Given the description of an element on the screen output the (x, y) to click on. 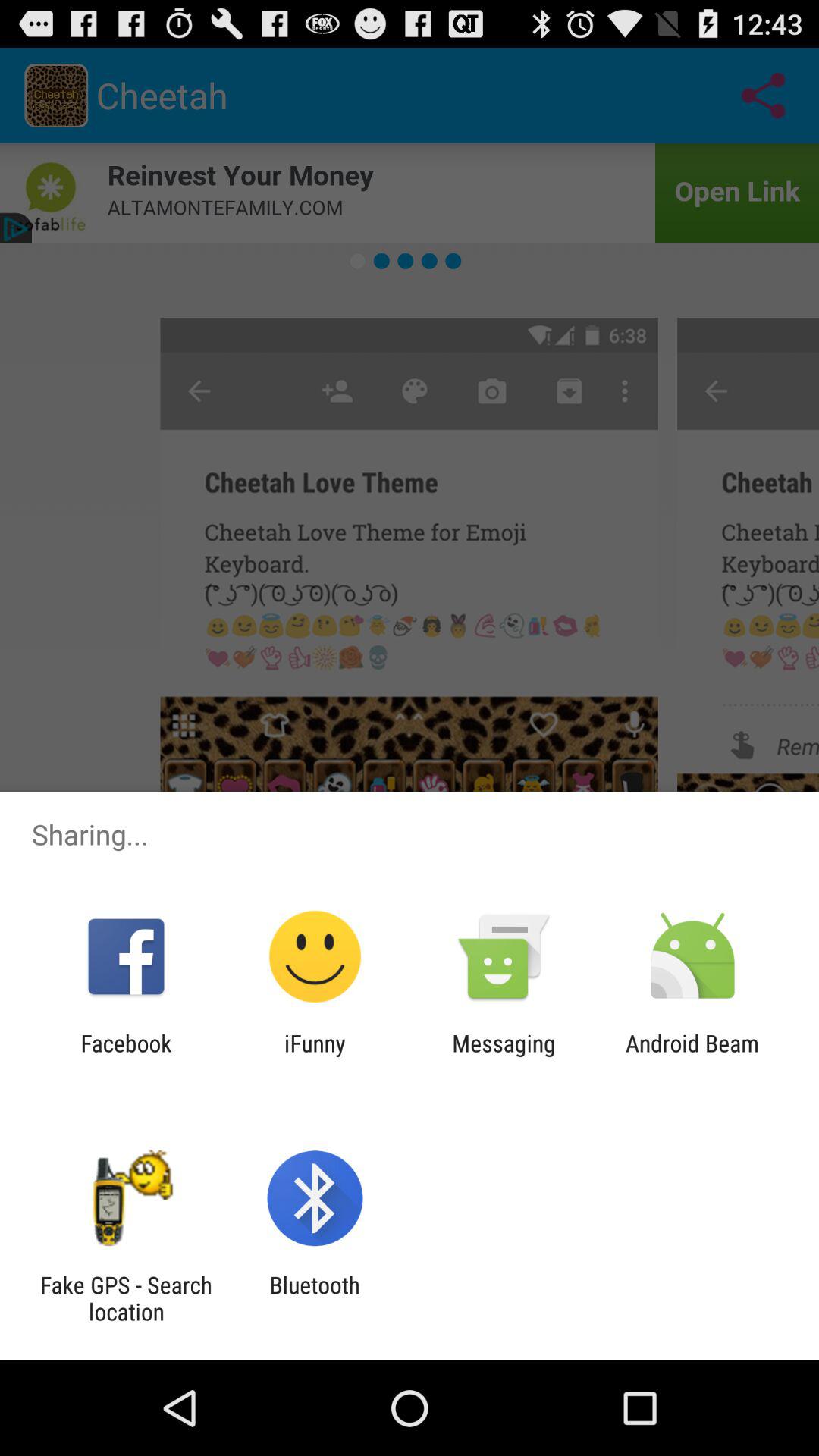
tap the ifunny item (314, 1056)
